Given the description of an element on the screen output the (x, y) to click on. 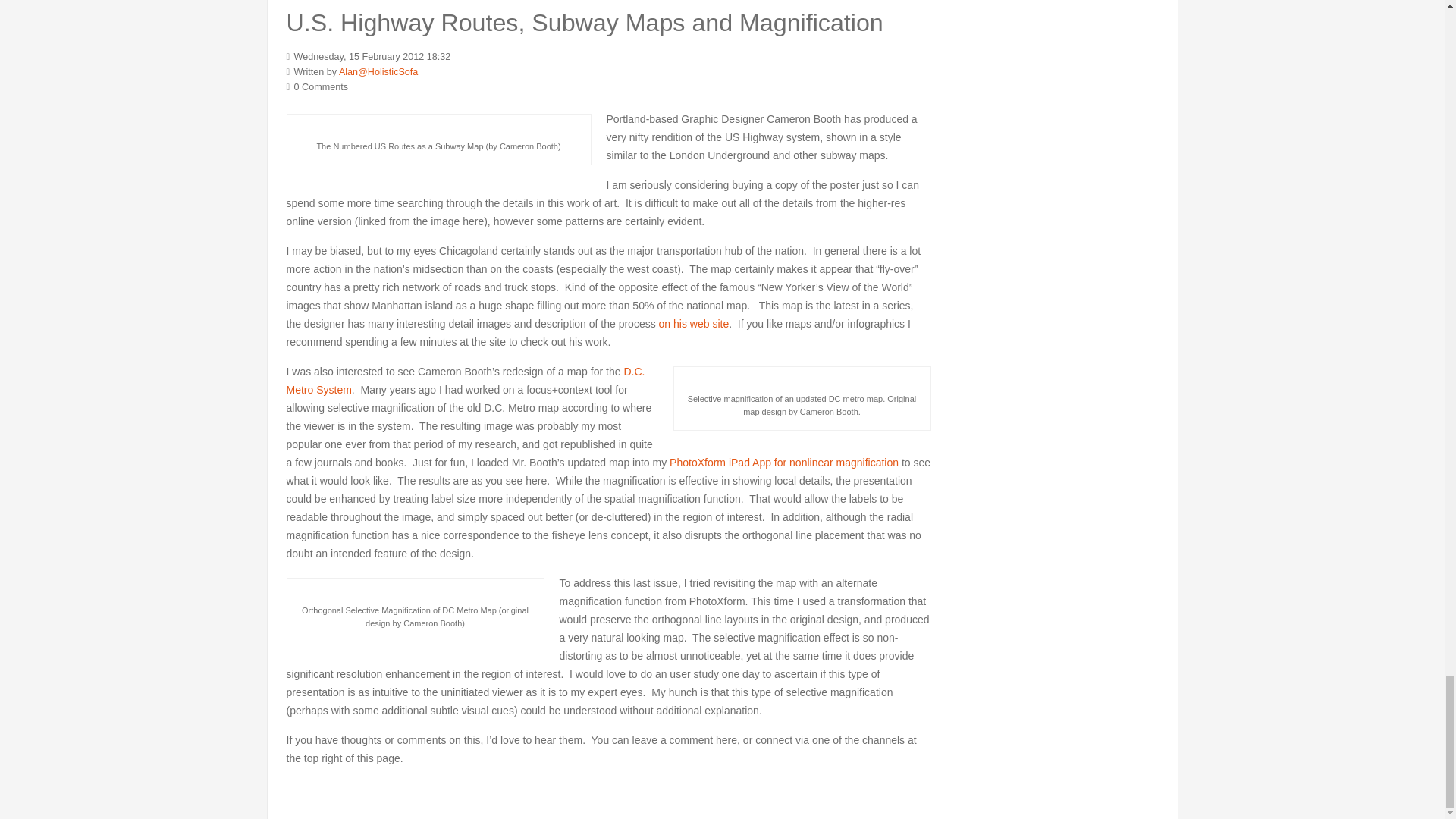
PhotoXform iPad App for nonlinear magnification (783, 462)
on his web site (694, 323)
D.C. Metro System (465, 380)
